Given the description of an element on the screen output the (x, y) to click on. 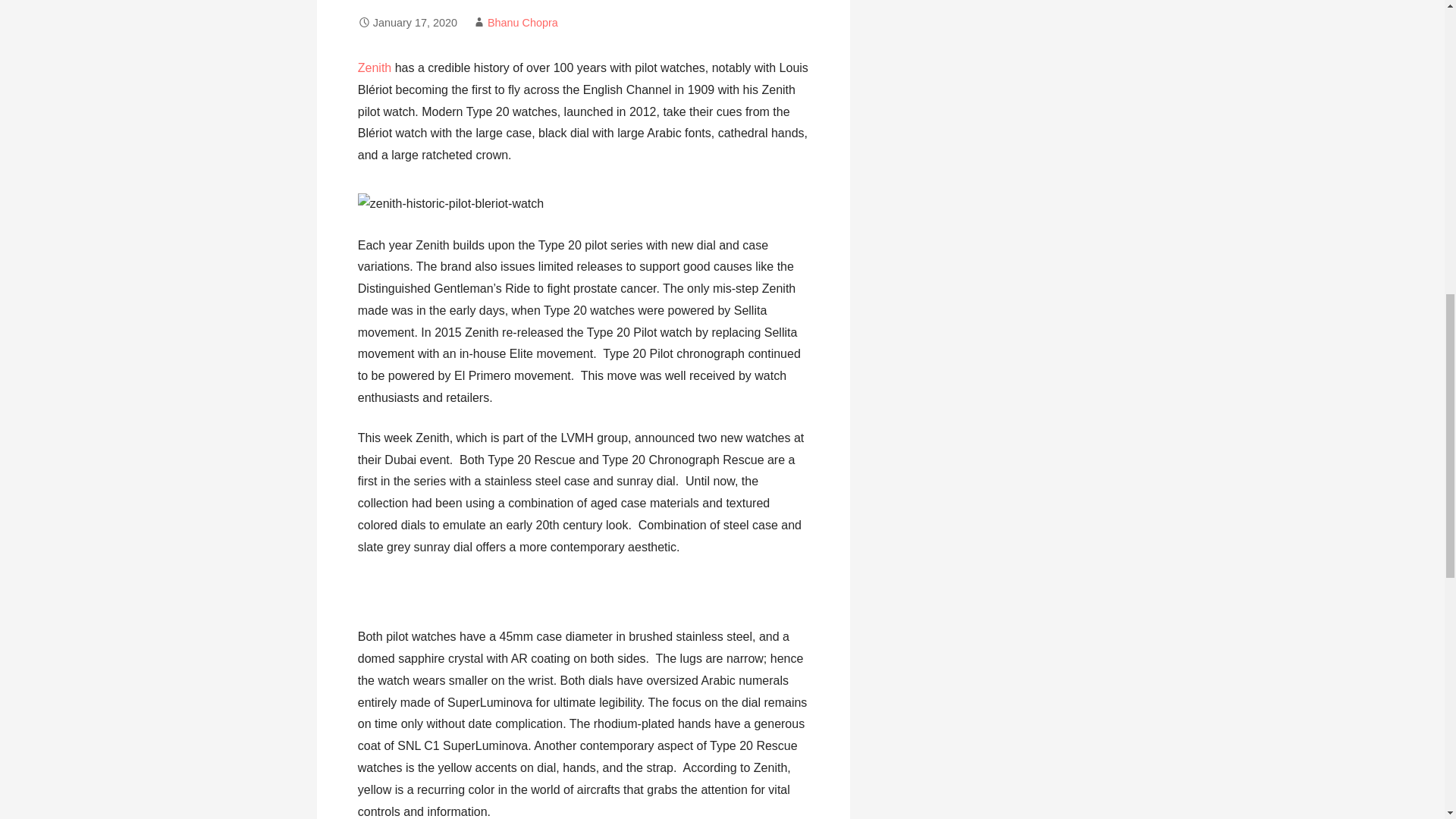
Posts by Bhanu Chopra (522, 22)
Bhanu Chopra (522, 22)
Zenith (374, 67)
